Given the description of an element on the screen output the (x, y) to click on. 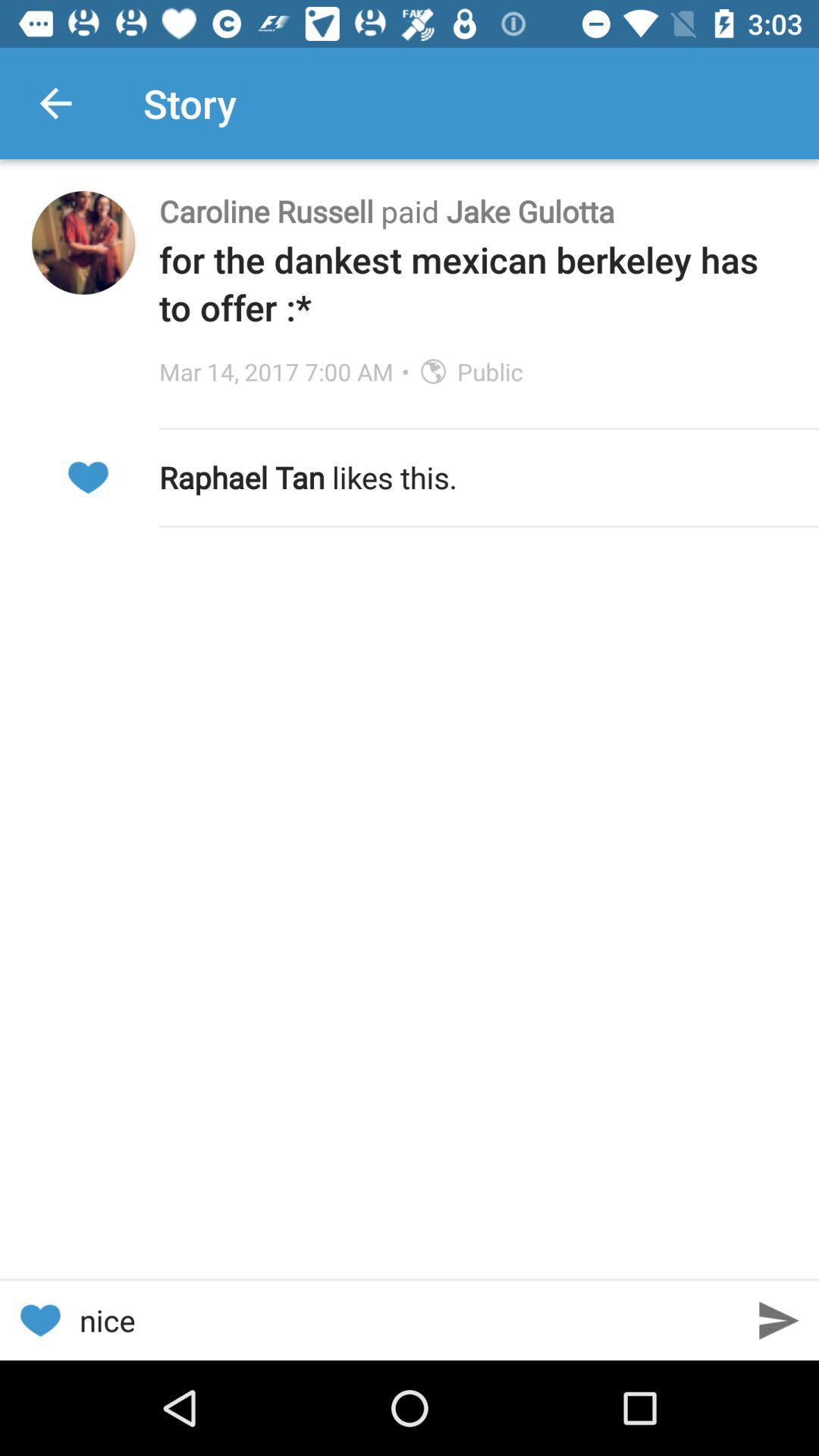
press nice icon (409, 1320)
